Given the description of an element on the screen output the (x, y) to click on. 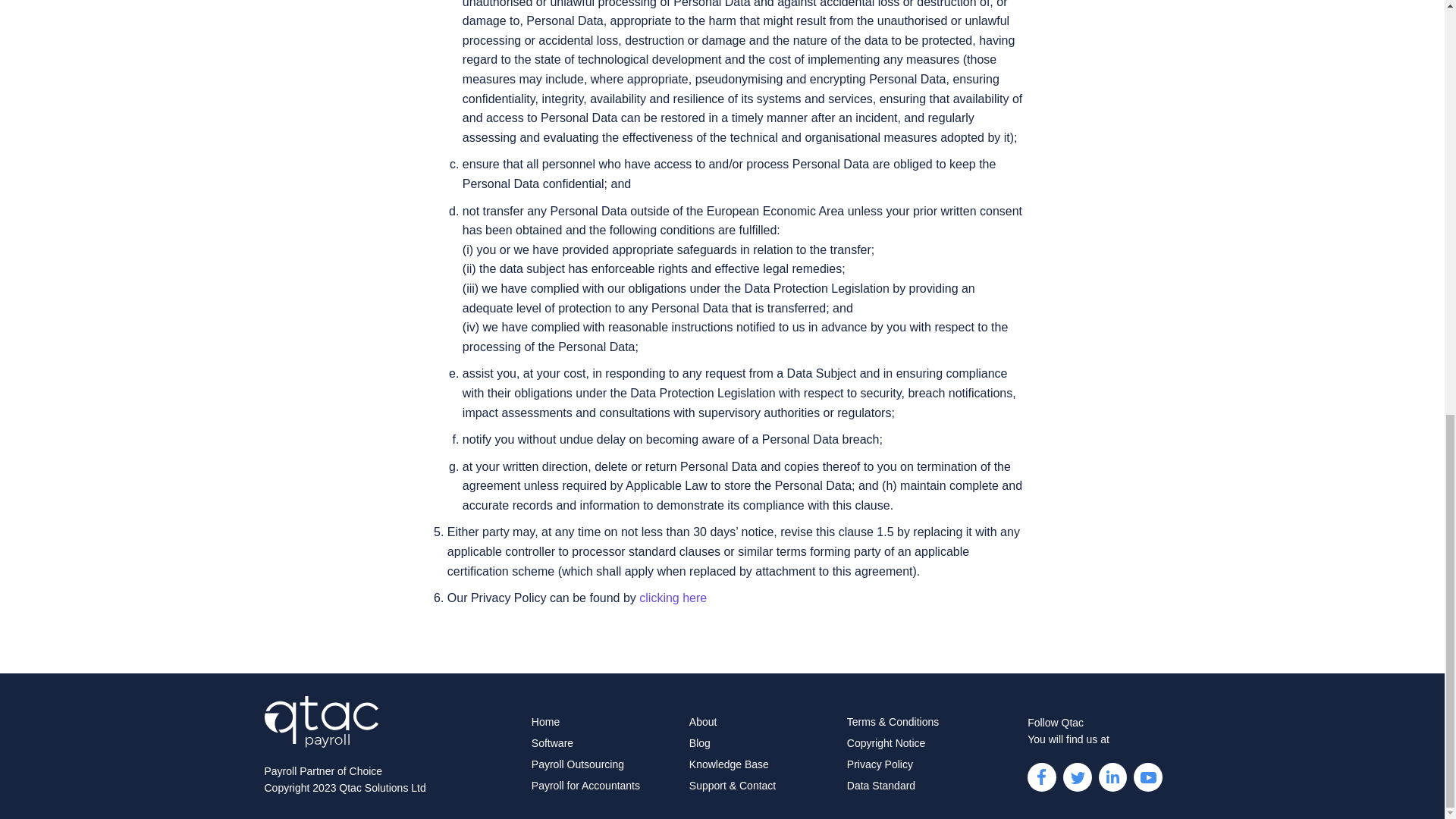
Payroll for Accountants (585, 785)
Privacy Policy (879, 764)
About (702, 721)
Software (552, 743)
Home (545, 721)
Knowledge Base (728, 764)
Blog (699, 743)
clicking here (672, 597)
Copyright Notice (886, 743)
Data Standard (881, 785)
Payroll Outsourcing (577, 764)
